Given the description of an element on the screen output the (x, y) to click on. 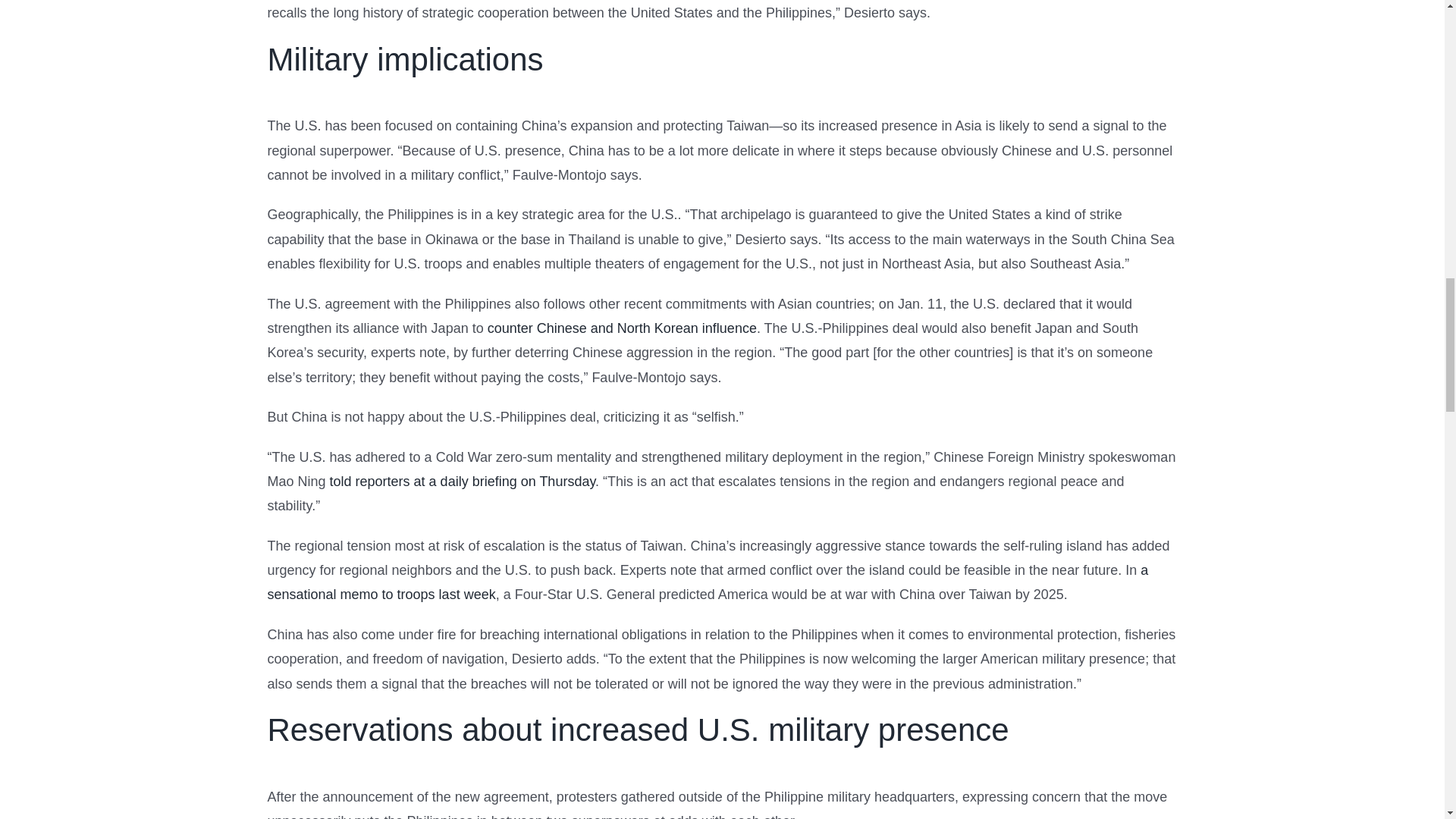
counter Chinese and North Korean influence (622, 328)
told reporters at a daily briefing on Thursday (462, 481)
a sensational memo to troops last week (707, 581)
